Given the description of an element on the screen output the (x, y) to click on. 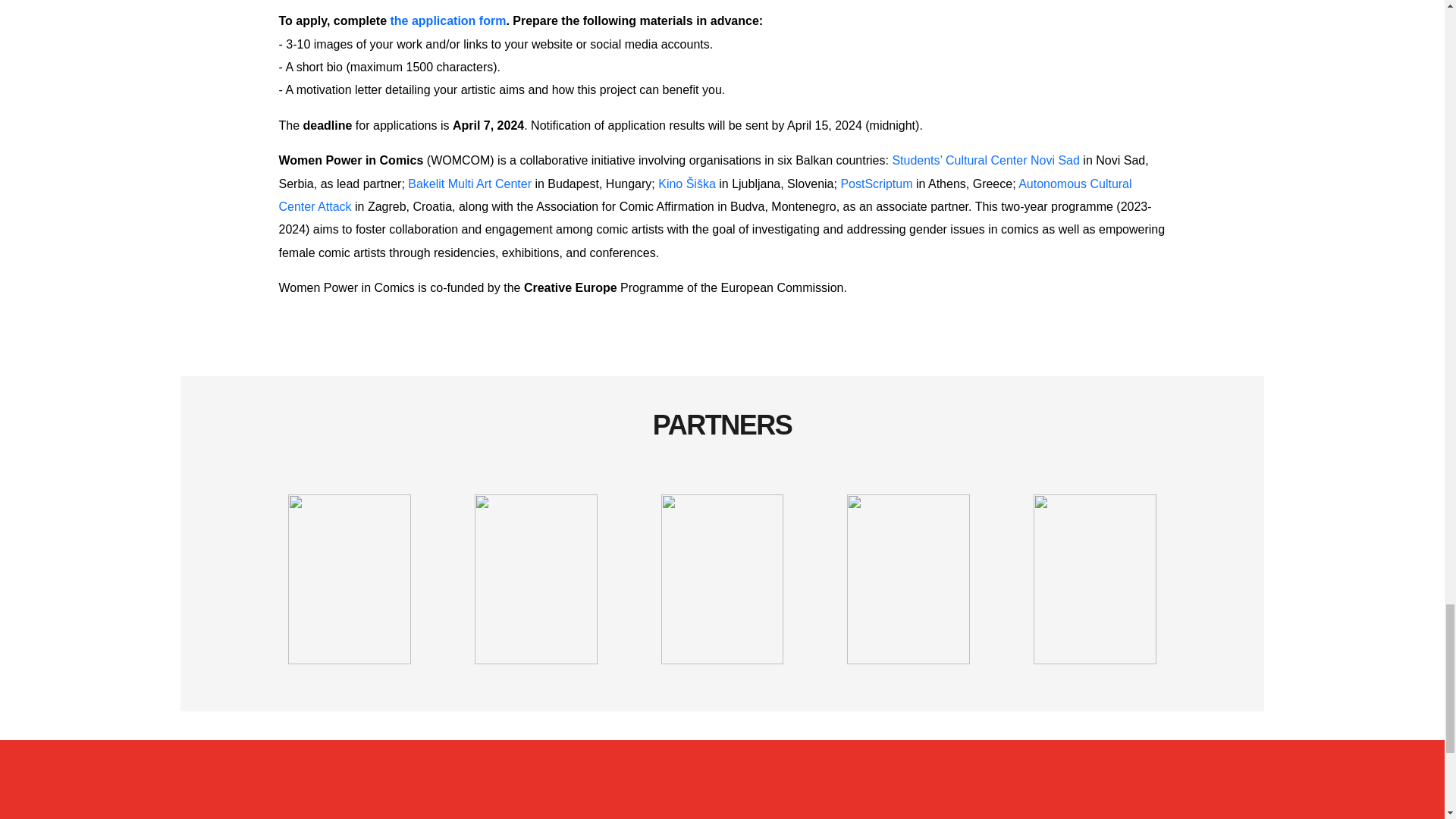
Bakelit Multi Art Center (469, 183)
PostScriptum (876, 183)
the application form (447, 20)
